Given the description of an element on the screen output the (x, y) to click on. 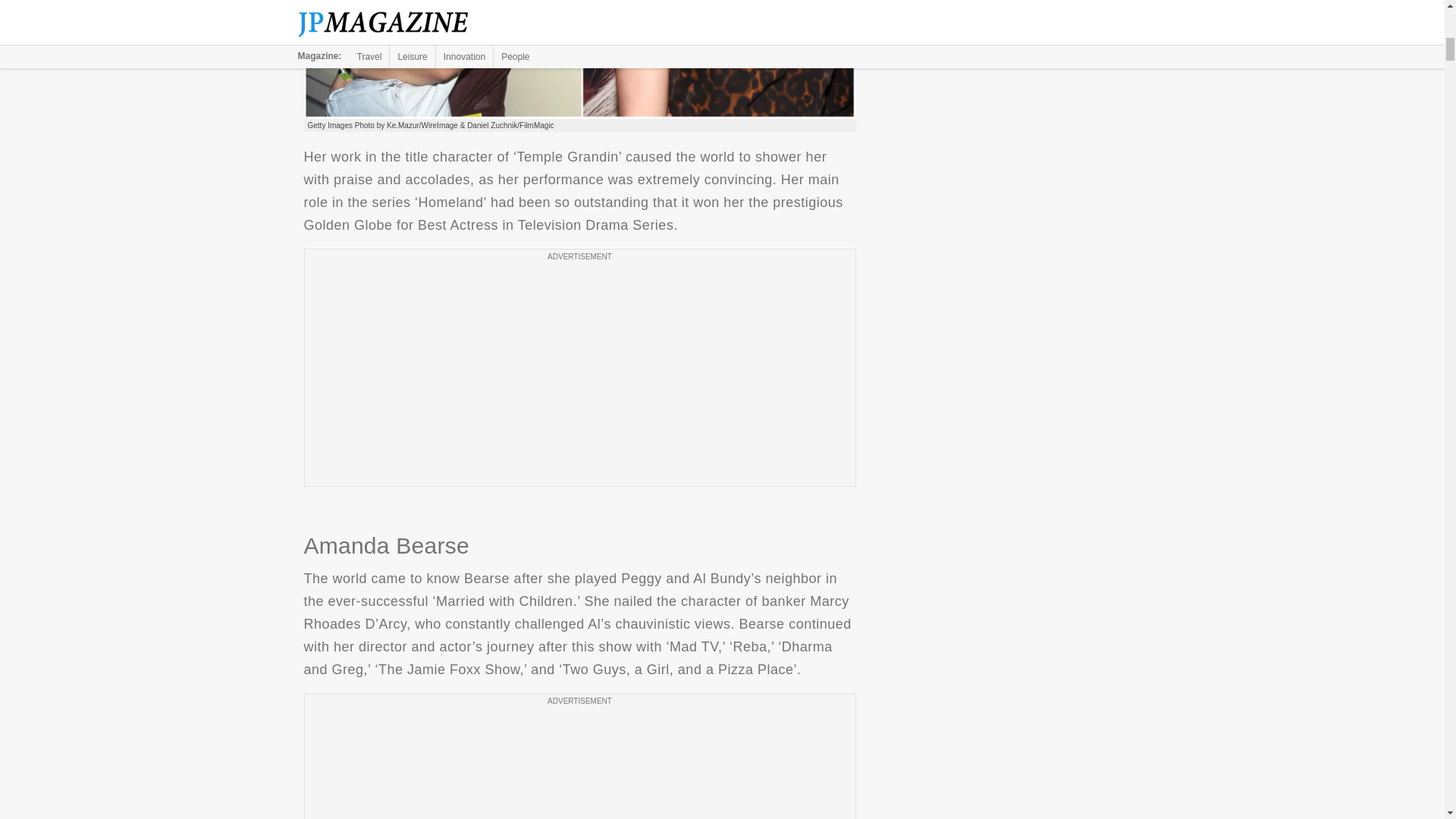
Claire Danes (579, 59)
